Given the description of an element on the screen output the (x, y) to click on. 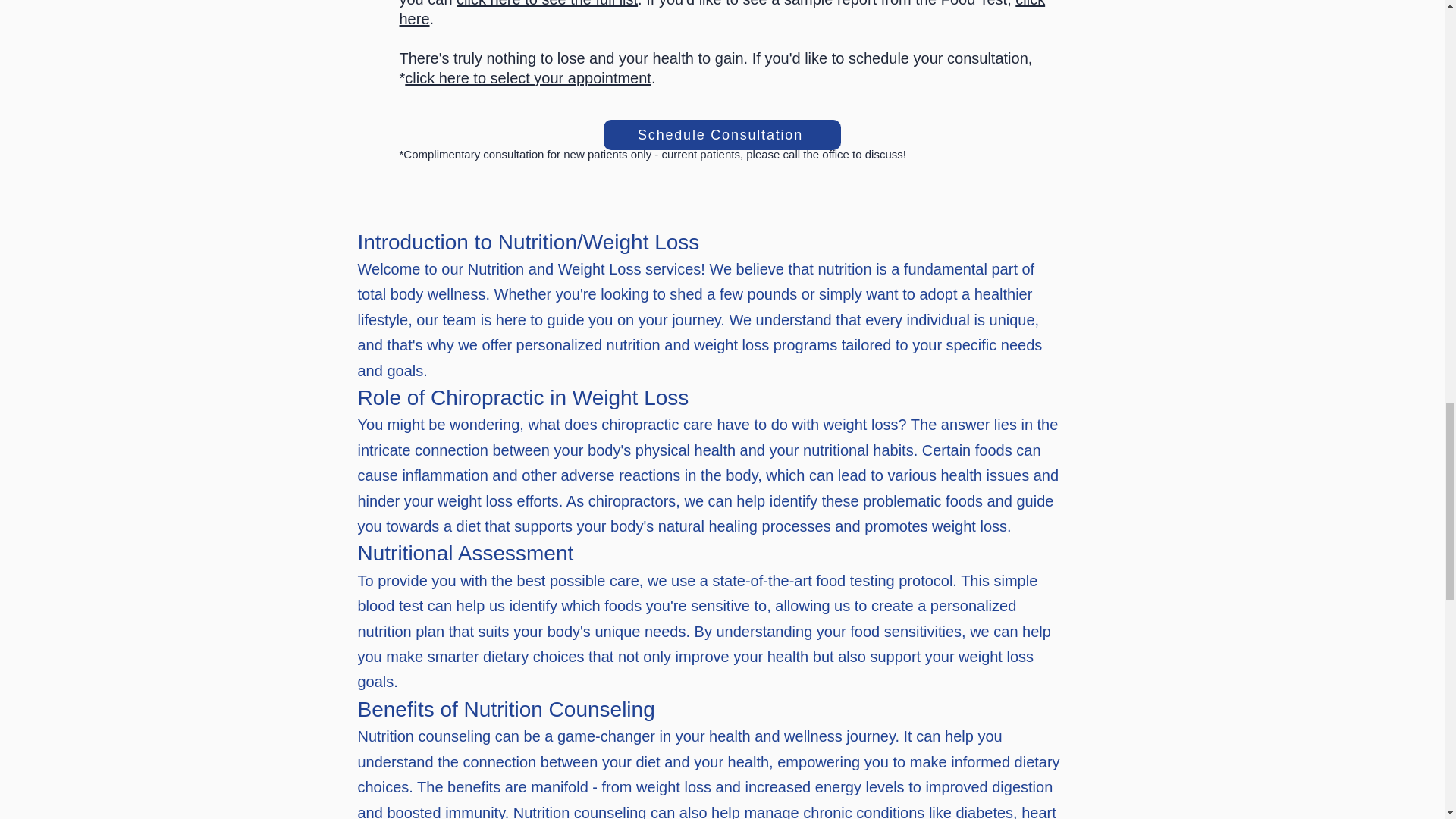
click here (721, 13)
click here to see the full list (547, 3)
click here to select your appointment (527, 77)
Schedule Consultation (722, 134)
